Given the description of an element on the screen output the (x, y) to click on. 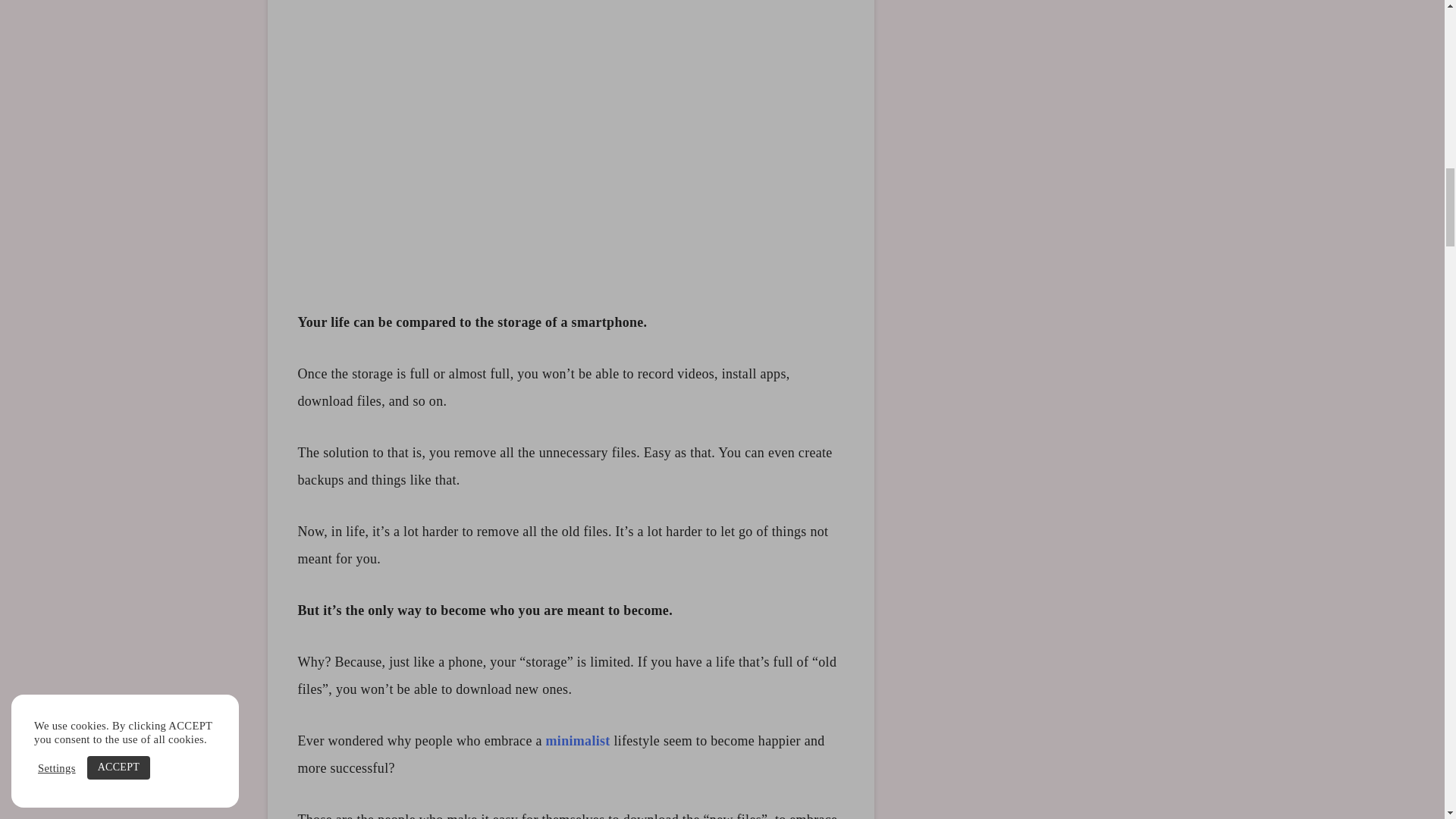
minimalist (578, 740)
